Given the description of an element on the screen output the (x, y) to click on. 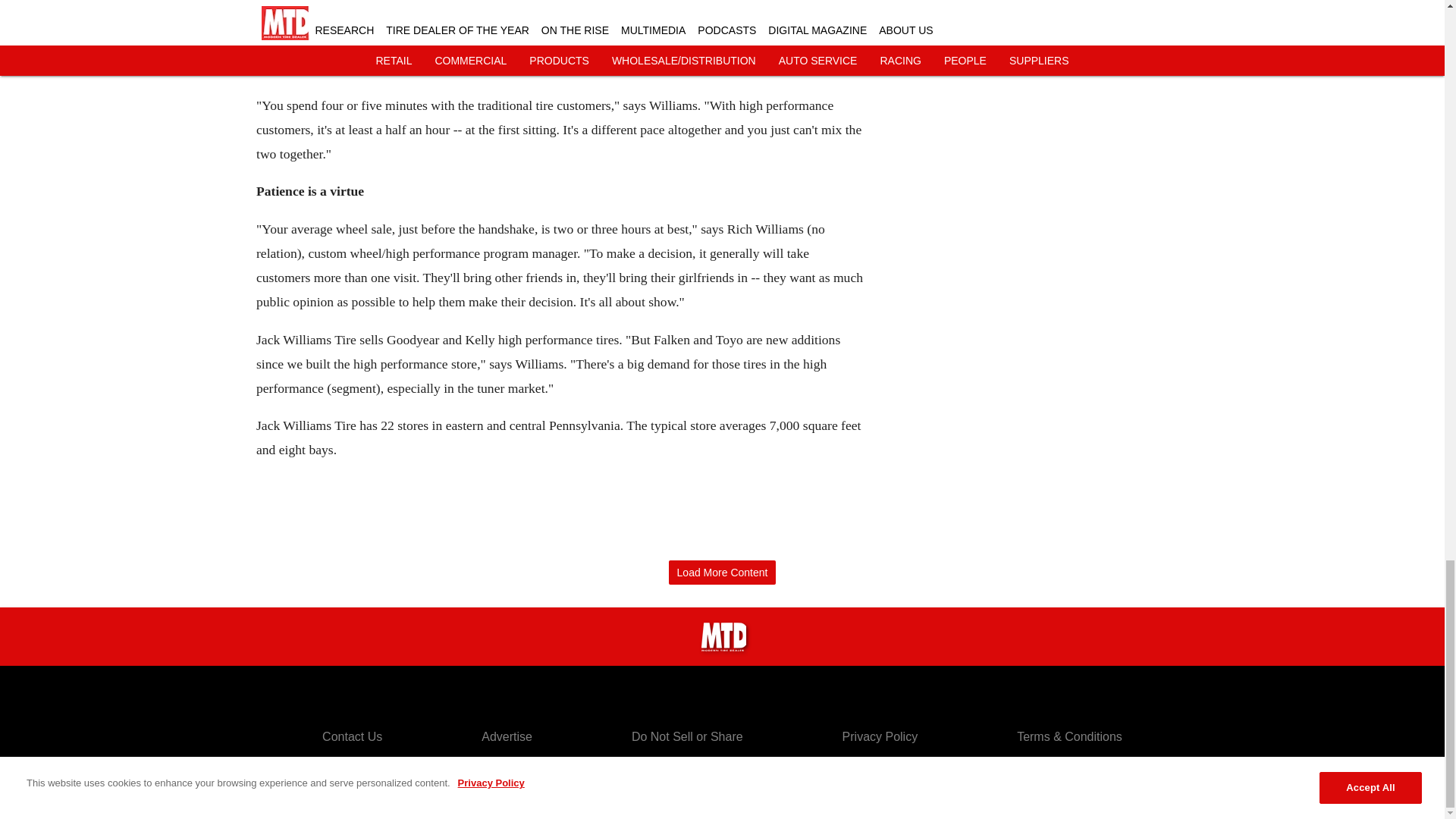
Load More Content (722, 572)
